Given the description of an element on the screen output the (x, y) to click on. 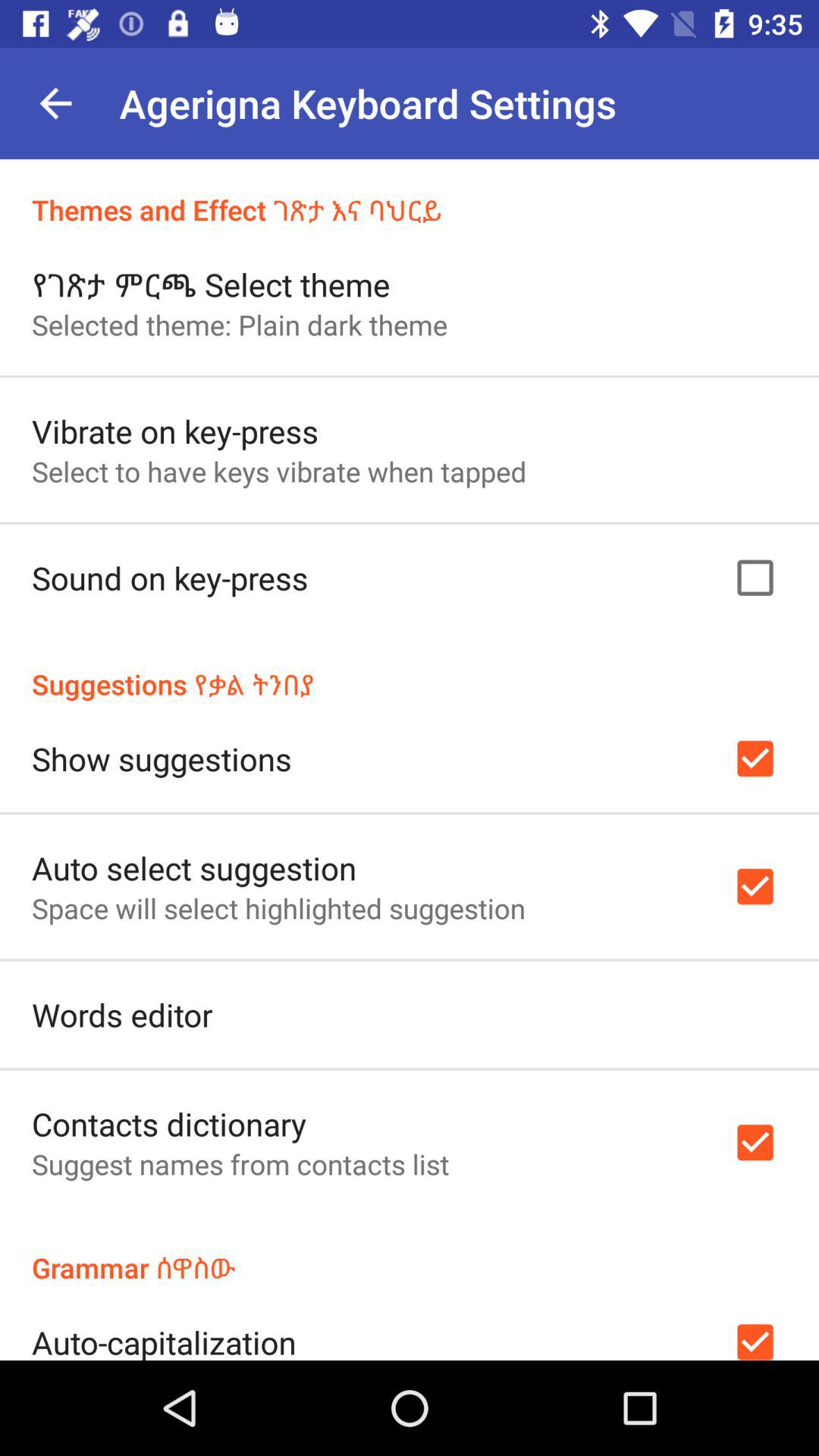
swipe until show suggestions (161, 758)
